Given the description of an element on the screen output the (x, y) to click on. 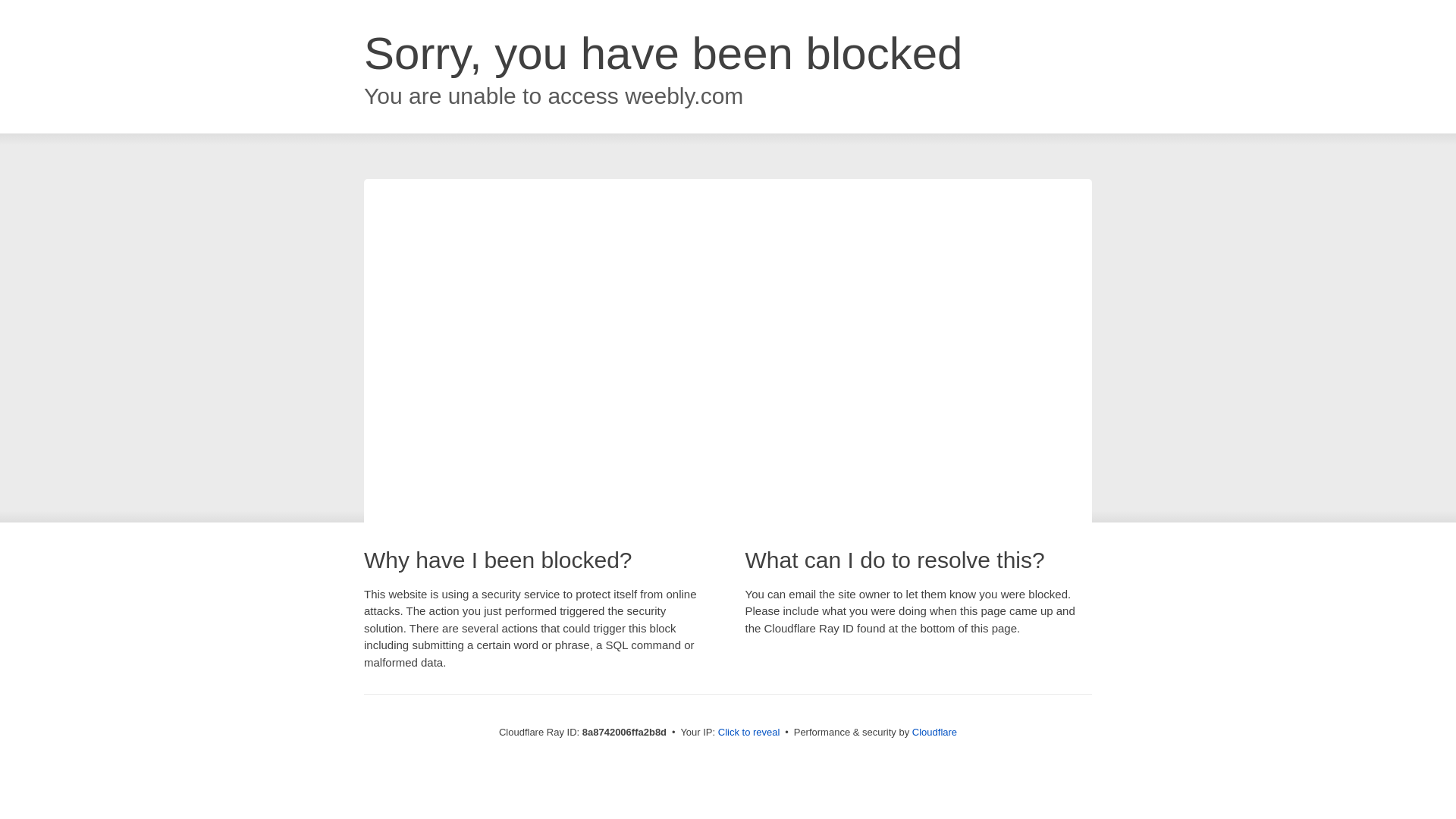
Click to reveal (748, 732)
Cloudflare (934, 731)
